Given the description of an element on the screen output the (x, y) to click on. 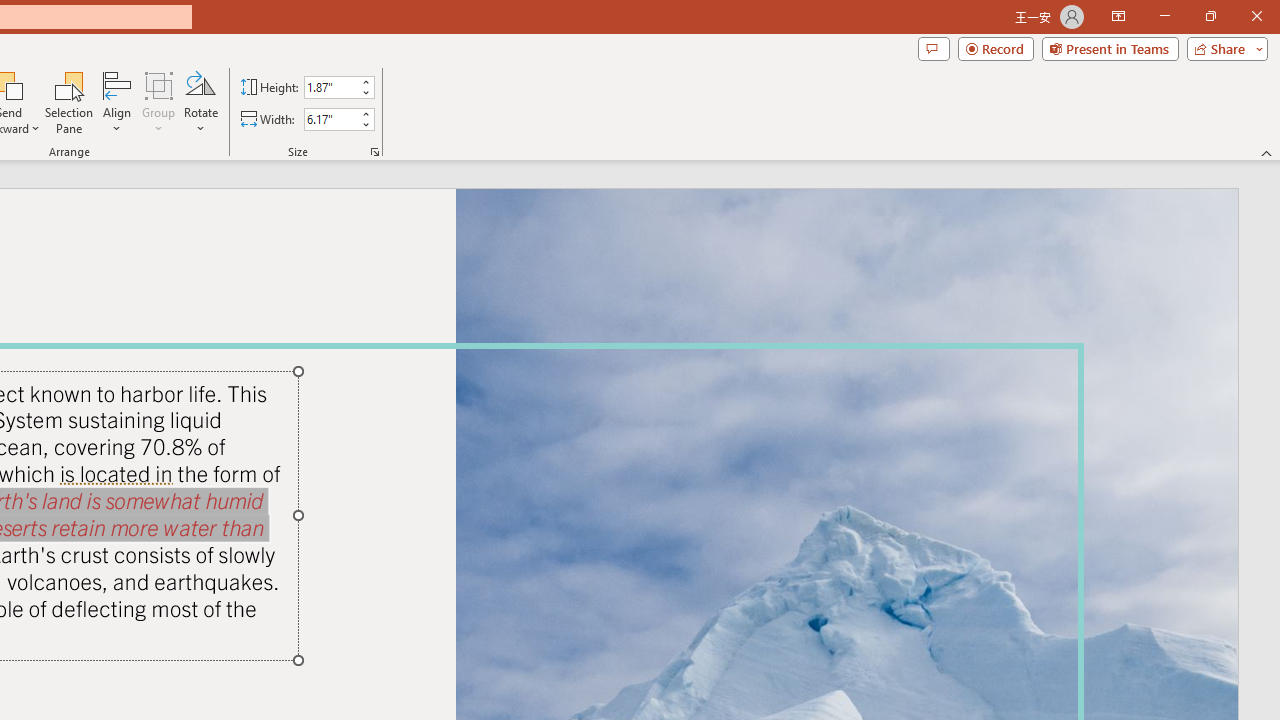
Present in Teams (1109, 48)
More (365, 113)
Align (117, 102)
Selection Pane... (69, 102)
Collapse the Ribbon (1267, 152)
Close (1256, 16)
Restore Down (1210, 16)
Share (1223, 48)
Shape Width (330, 119)
Minimize (1164, 16)
Less (365, 124)
Size and Position... (374, 151)
Ribbon Display Options (1118, 16)
Record (995, 48)
